Given the description of an element on the screen output the (x, y) to click on. 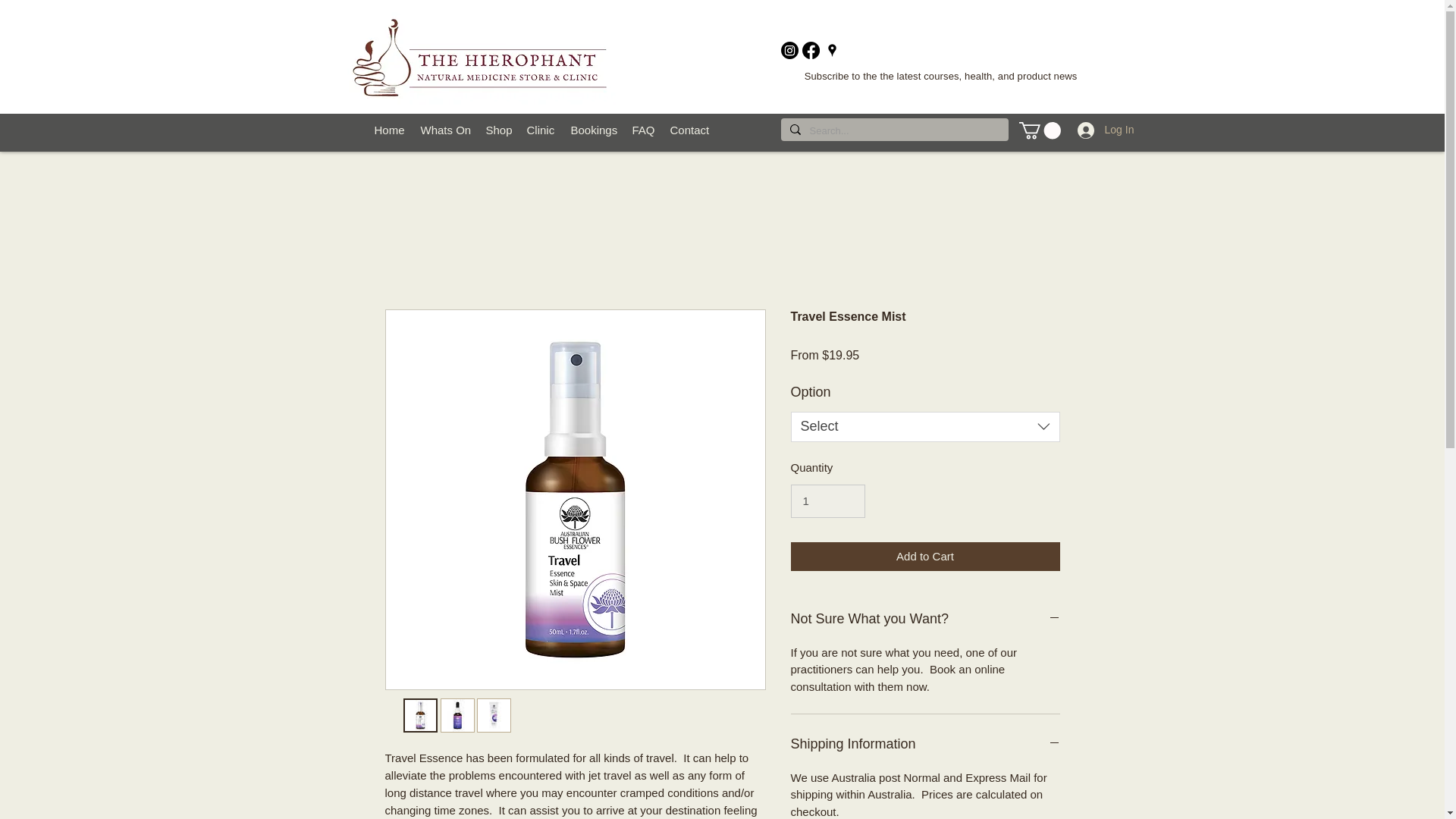
Clinic (540, 129)
Select (924, 426)
Log In (1092, 130)
Bookings (593, 129)
Not Sure What you Want? (924, 619)
FAQ (643, 129)
Contact (689, 129)
Whats On (444, 129)
1 (827, 500)
Add to Cart (924, 556)
